Given the description of an element on the screen output the (x, y) to click on. 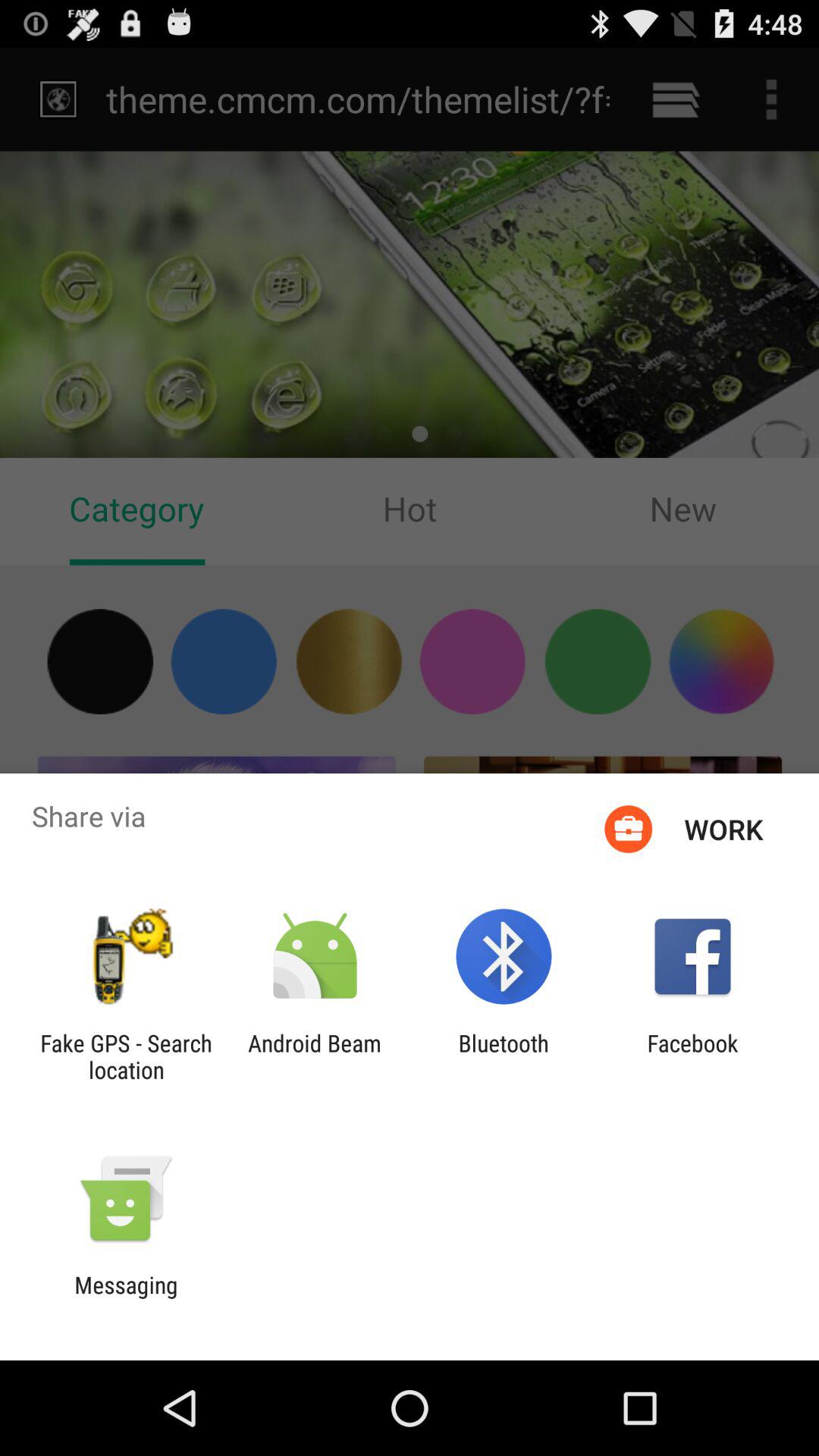
turn on the fake gps search (125, 1056)
